Given the description of an element on the screen output the (x, y) to click on. 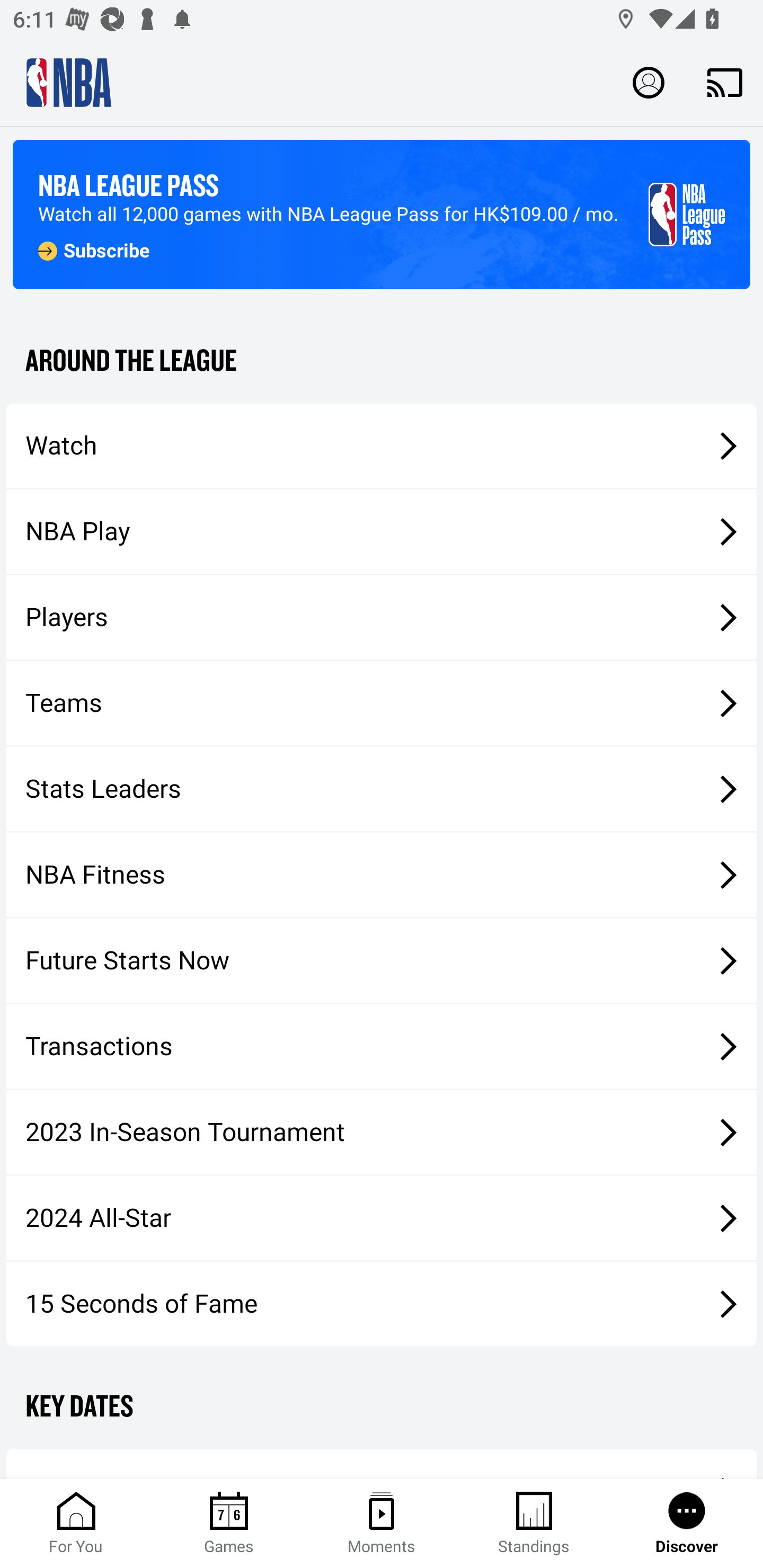
Cast. Disconnected (724, 82)
Profile (648, 81)
Watch (381, 444)
NBA Play (381, 531)
Players (381, 617)
Teams (381, 702)
Stats Leaders (381, 788)
NBA Fitness (381, 874)
Future Starts Now (381, 960)
Transactions (381, 1046)
2023 In-Season Tournament (381, 1131)
2024 All-Star (381, 1218)
15 Seconds of Fame (381, 1303)
For You (76, 1523)
Games (228, 1523)
Moments (381, 1523)
Standings (533, 1523)
